Given the description of an element on the screen output the (x, y) to click on. 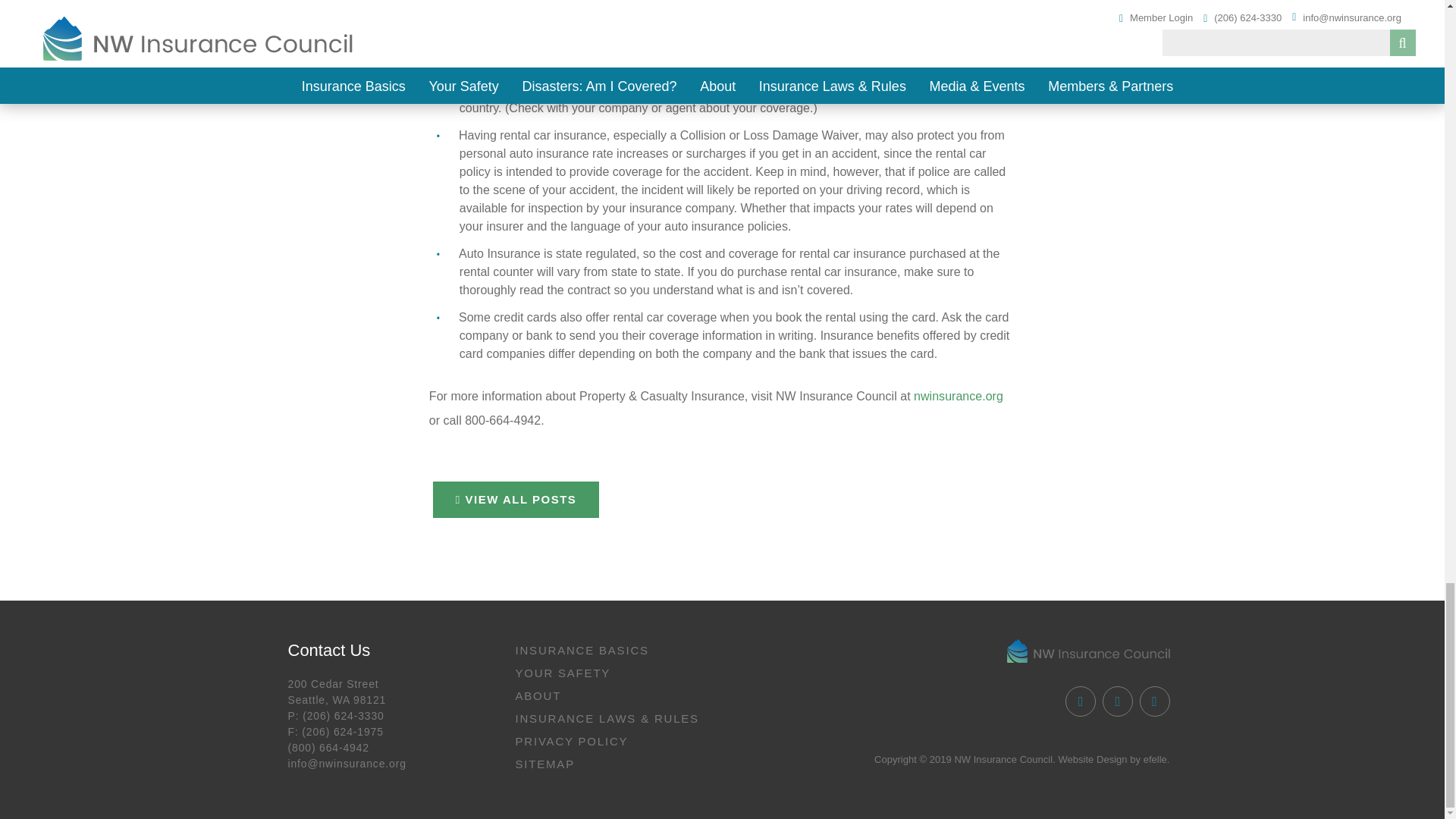
 Your Safety (611, 672)
Sitemap (611, 763)
Insurance Basics (611, 650)
About (611, 695)
Privacy Policy (611, 741)
